Given the description of an element on the screen output the (x, y) to click on. 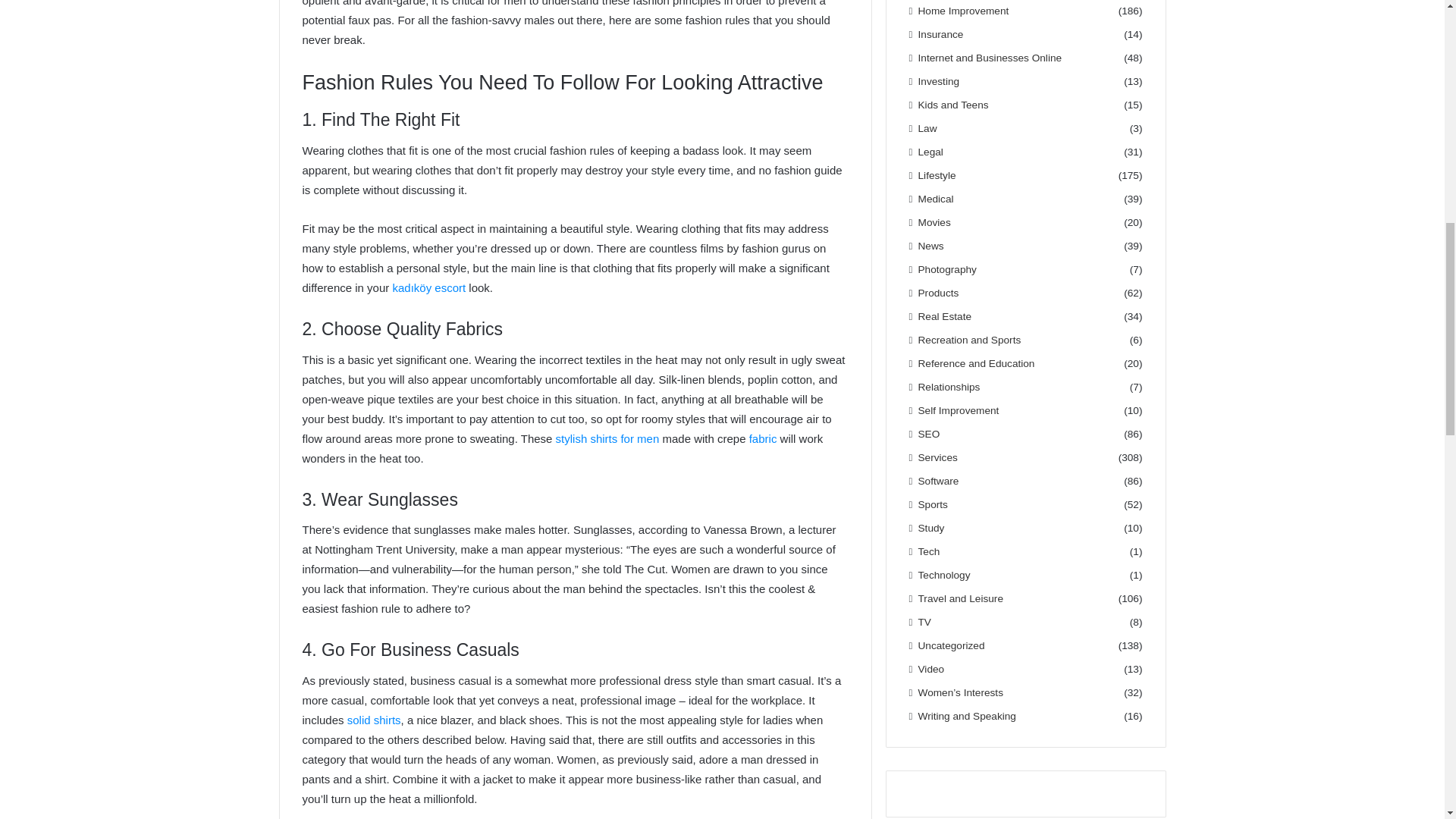
fabric (763, 438)
solid shirts (374, 719)
stylish shirts for men (609, 438)
